Given the description of an element on the screen output the (x, y) to click on. 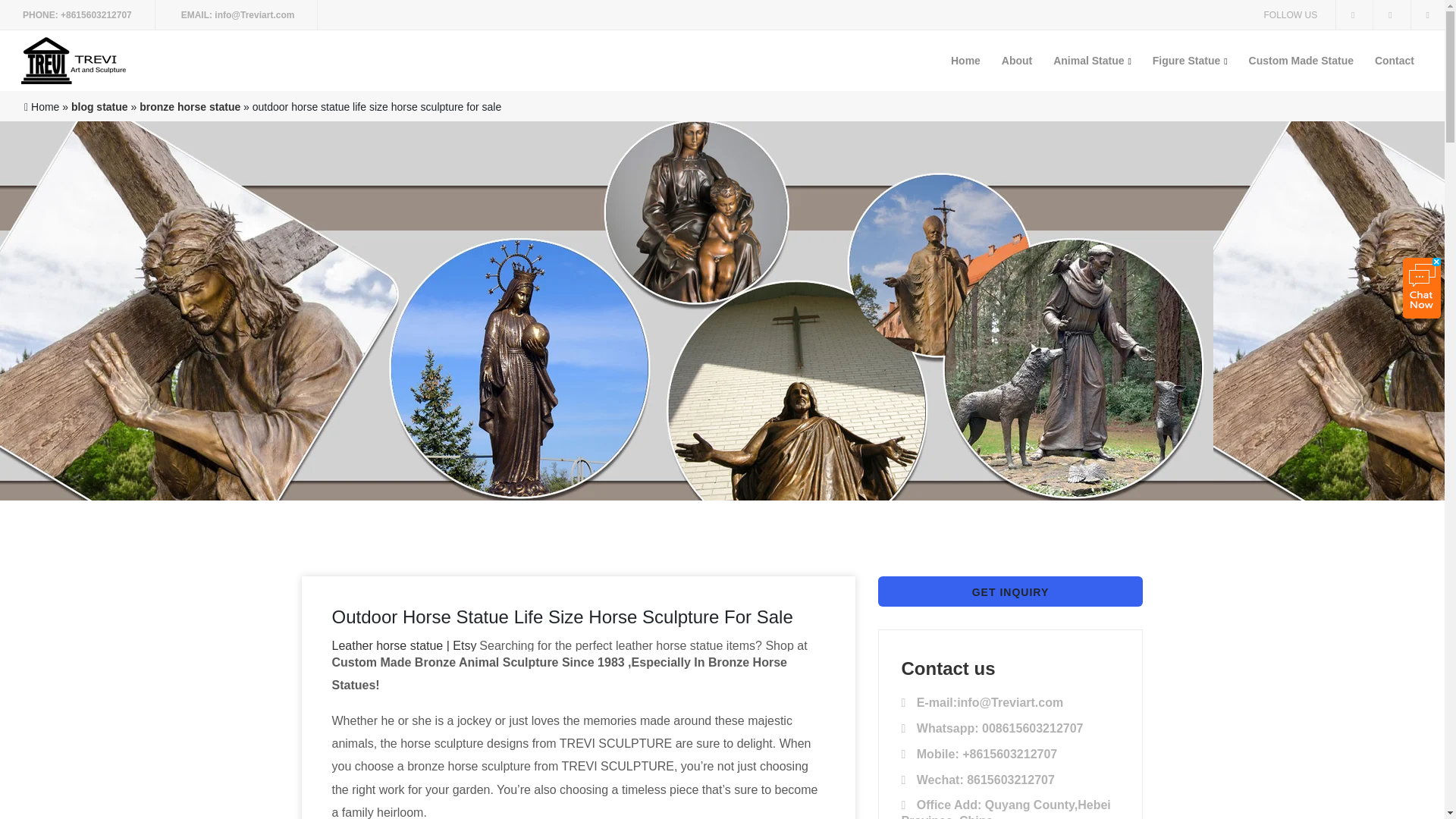
Contact (1394, 59)
GET INQUIRY (1009, 591)
Figure Statue (1189, 59)
Home (966, 59)
Figure Statue (1189, 59)
Custom Made Statue (1301, 59)
About (1016, 59)
Animal Statue (1091, 59)
bronze horse statue (189, 106)
blog statue (99, 106)
Animal Statue (1091, 59)
About (1016, 59)
Contact (1394, 59)
Custom Made Statue (1301, 59)
